Given the description of an element on the screen output the (x, y) to click on. 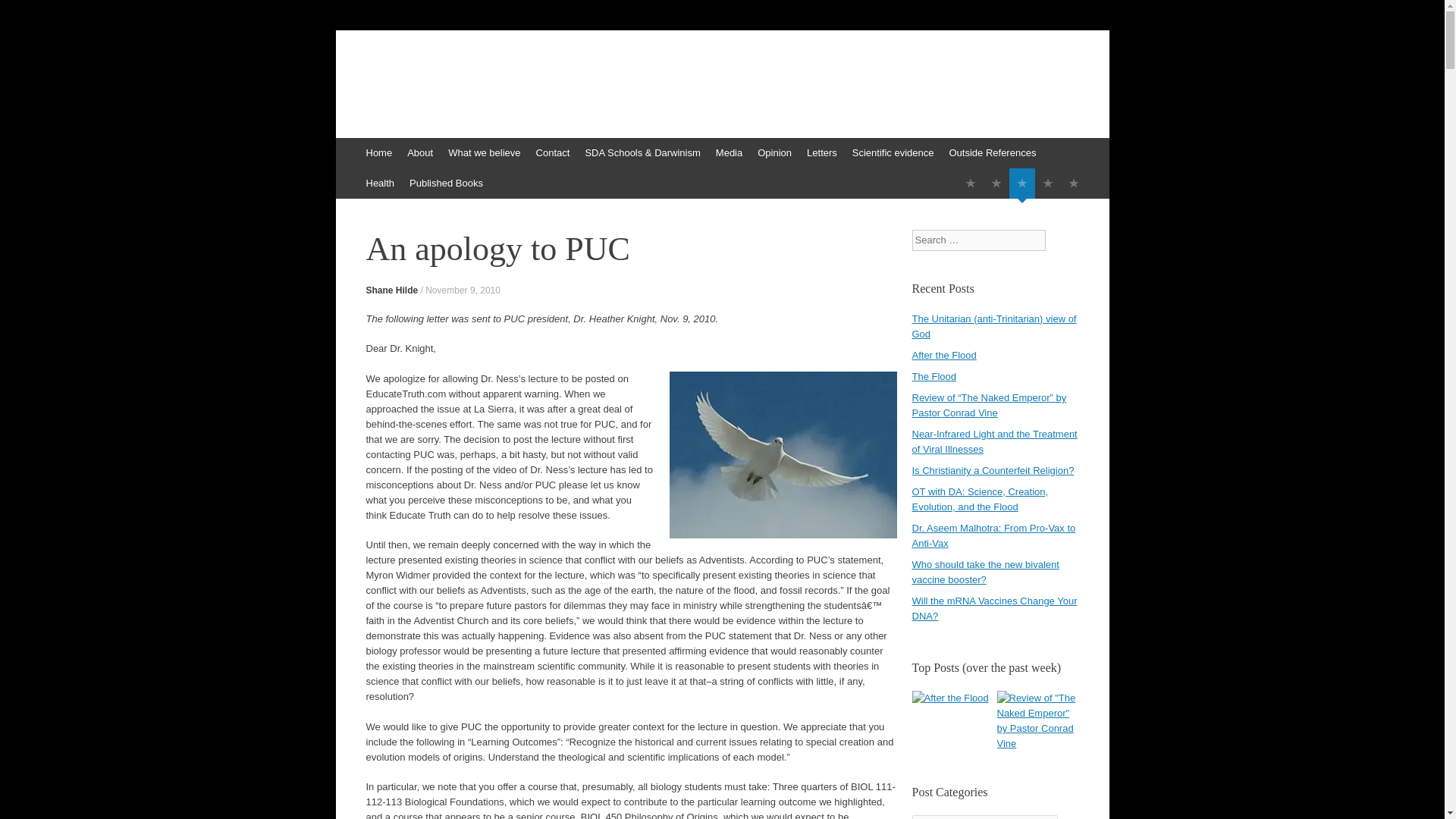
Educate Truth (438, 80)
What we believe (484, 153)
About (419, 153)
Opinion (774, 153)
Skip to content (342, 145)
Shane Hilde (391, 290)
Home (378, 153)
Contact (553, 153)
Published Books (445, 183)
Scientific evidence (893, 153)
